Given the description of an element on the screen output the (x, y) to click on. 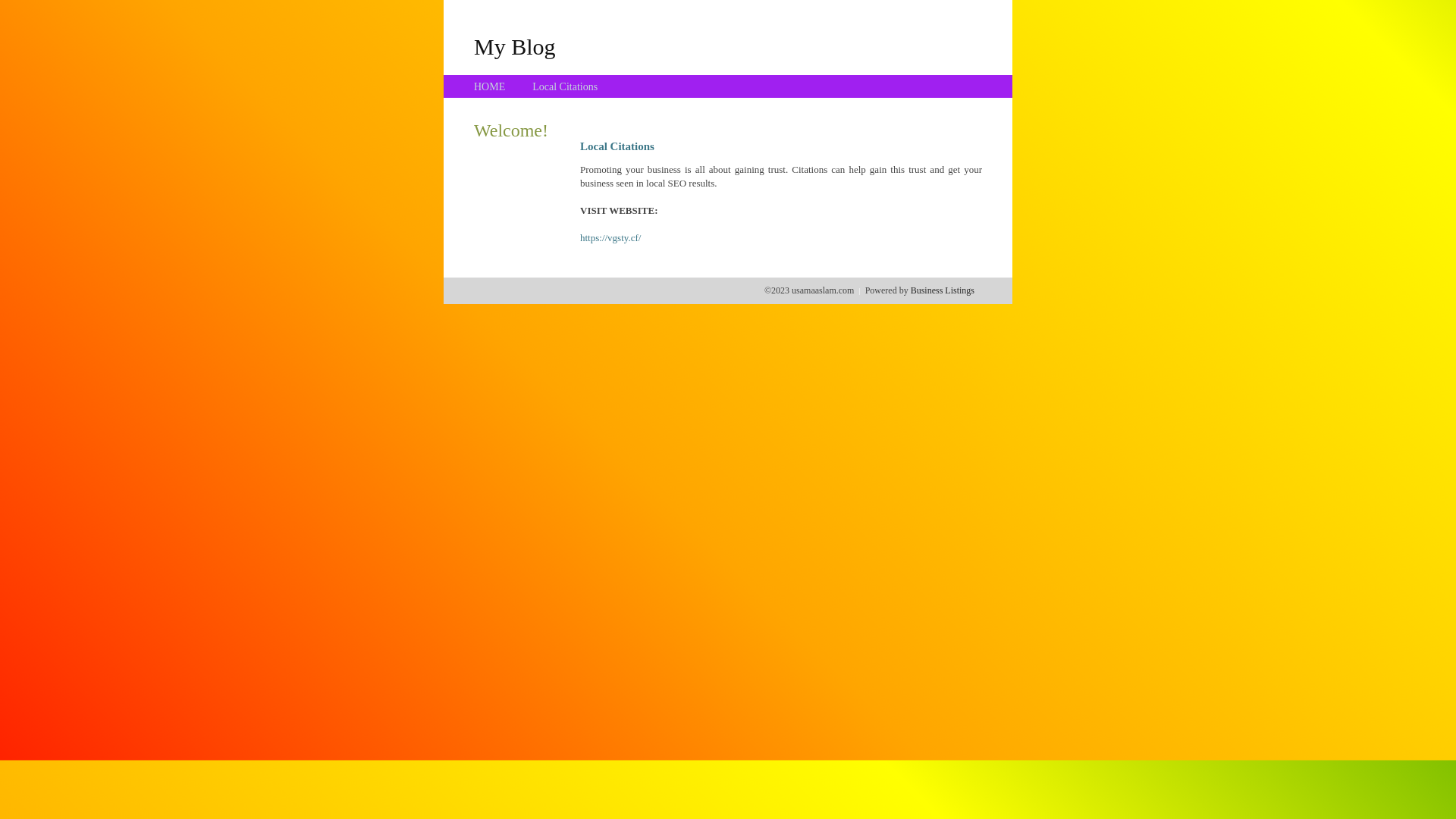
https://vgsty.cf/ Element type: text (610, 237)
Local Citations Element type: text (564, 86)
Business Listings Element type: text (942, 290)
HOME Element type: text (489, 86)
My Blog Element type: text (514, 46)
